Given the description of an element on the screen output the (x, y) to click on. 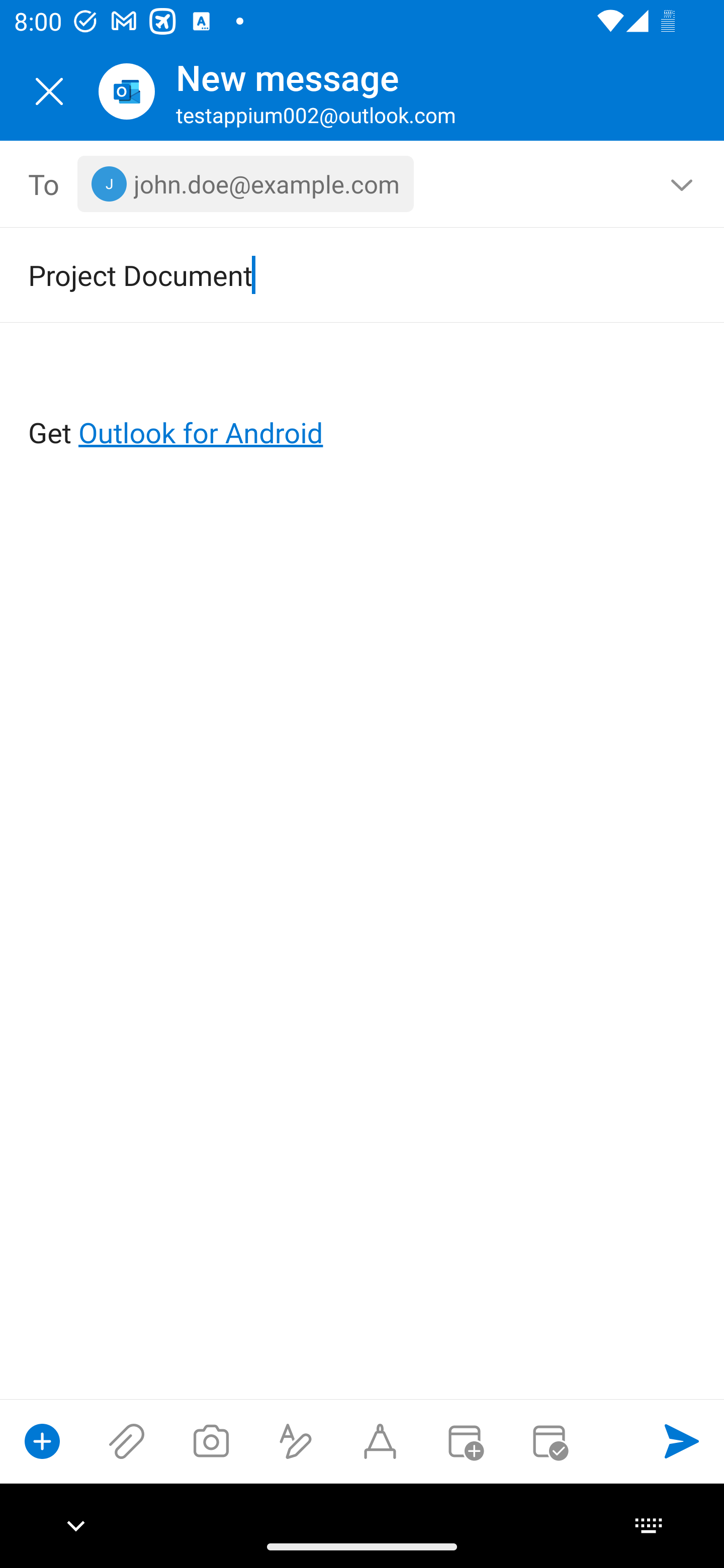
Close (49, 91)
To, 1 recipient <john.doe@example.com> (362, 184)
Project Document (333, 274)


Get Outlook for Android (363, 400)
Show compose options (42, 1440)
Attach files (126, 1440)
Take a photo (210, 1440)
Show formatting options (295, 1440)
Start Ink compose (380, 1440)
Convert to event (464, 1440)
Send availability (548, 1440)
Send (681, 1440)
